Given the description of an element on the screen output the (x, y) to click on. 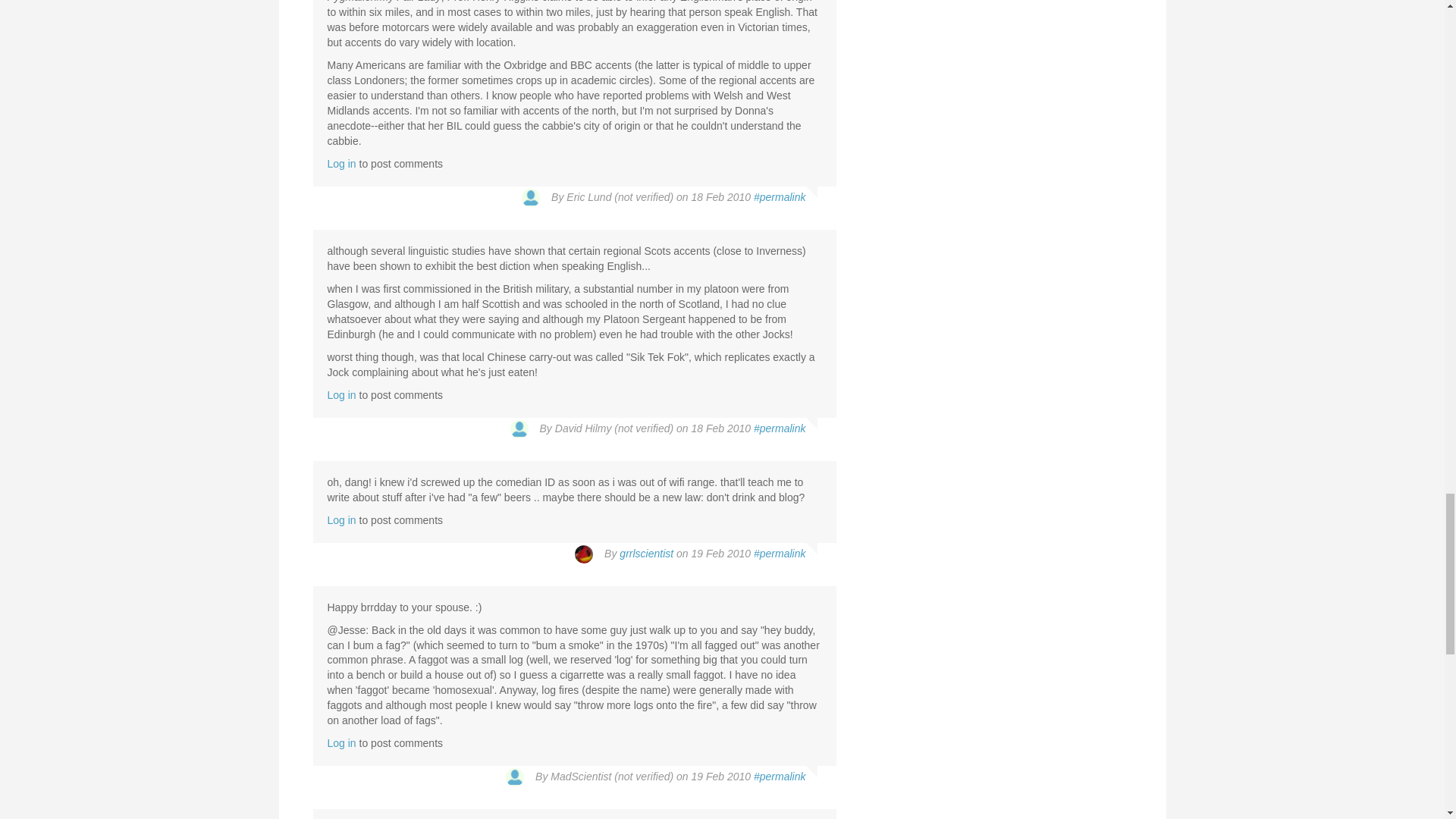
View user profile. (646, 553)
